Given the description of an element on the screen output the (x, y) to click on. 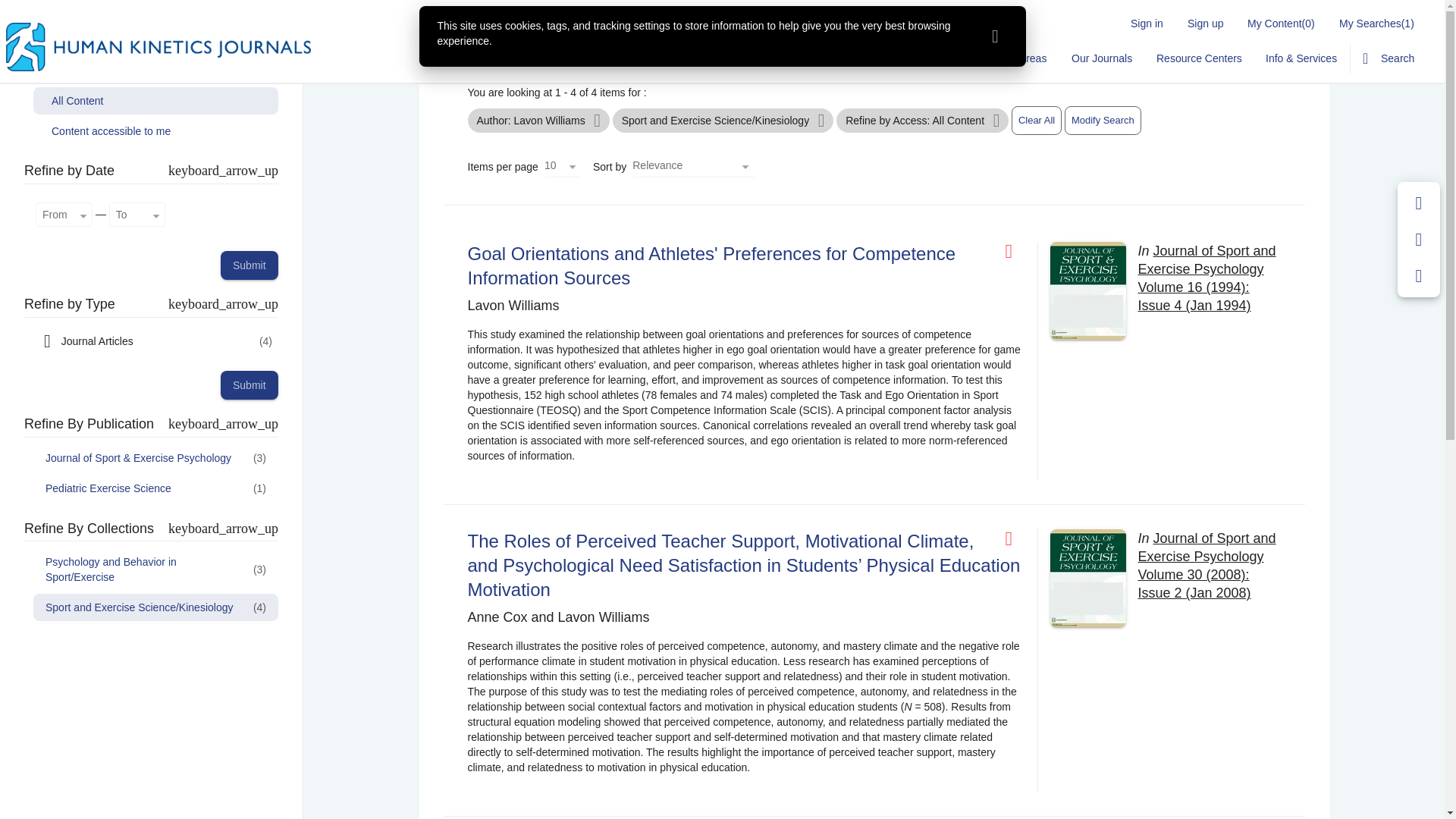
Resource Centers (1198, 58)
Dismiss this warning (994, 36)
Our Journals (1100, 58)
Browse (799, 58)
Restricted access (1015, 251)
Sign up (1204, 23)
Save (1418, 203)
Sign in (1146, 23)
Human Kinetics (158, 46)
Subject Areas (1013, 58)
Home (743, 58)
Restricted access (1015, 538)
About Us (863, 58)
Sign up (1204, 23)
Email Page (1418, 239)
